Given the description of an element on the screen output the (x, y) to click on. 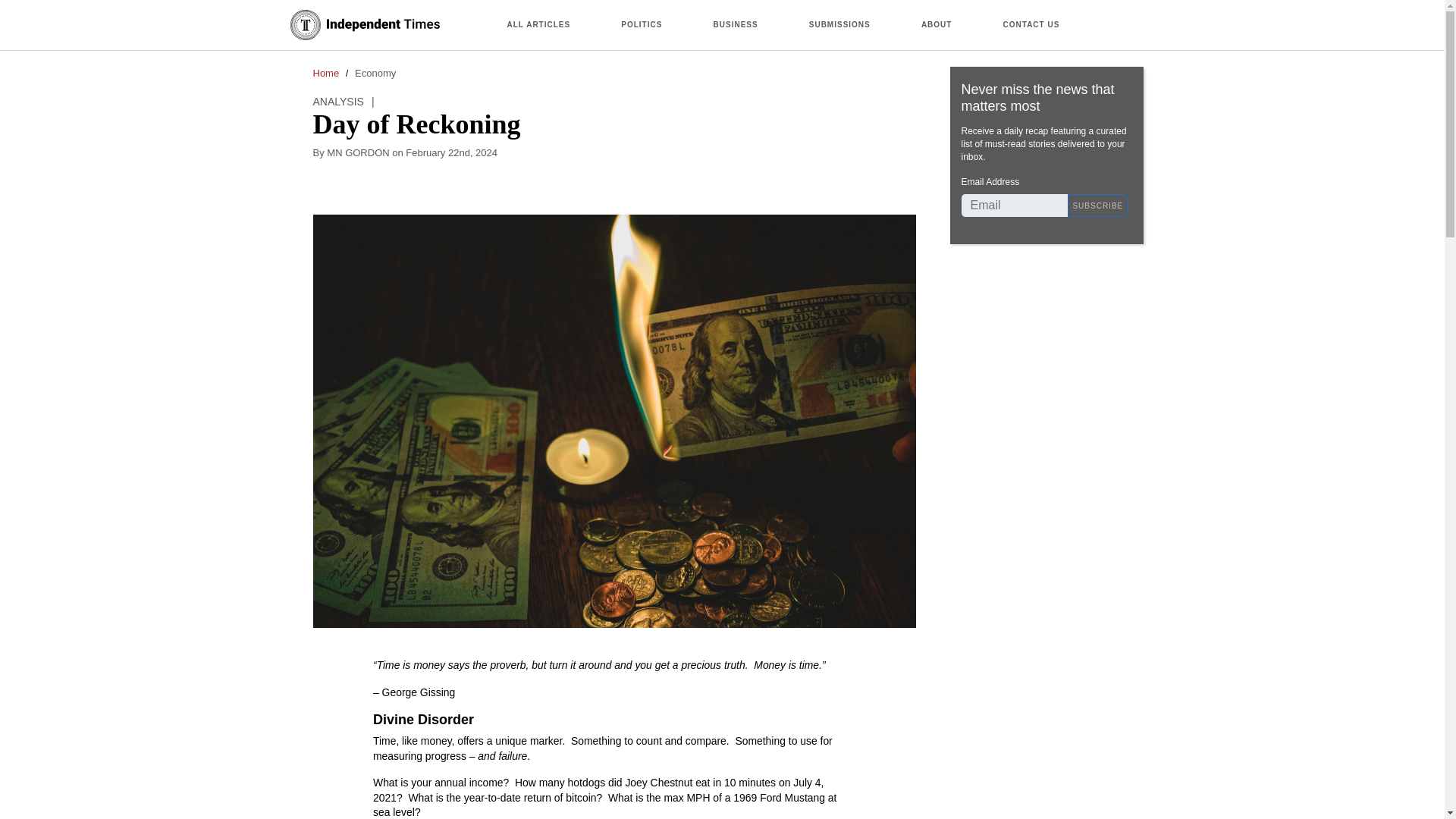
MN GORDON (358, 152)
Skip to main content (721, 1)
BUSINESS (735, 24)
SUBMISSIONS (839, 24)
Home (326, 72)
ALL ARTICLES (538, 24)
CONTACT US (1031, 24)
SUBSCRIBE (1097, 205)
ABOUT (935, 24)
Home (364, 24)
